Given the description of an element on the screen output the (x, y) to click on. 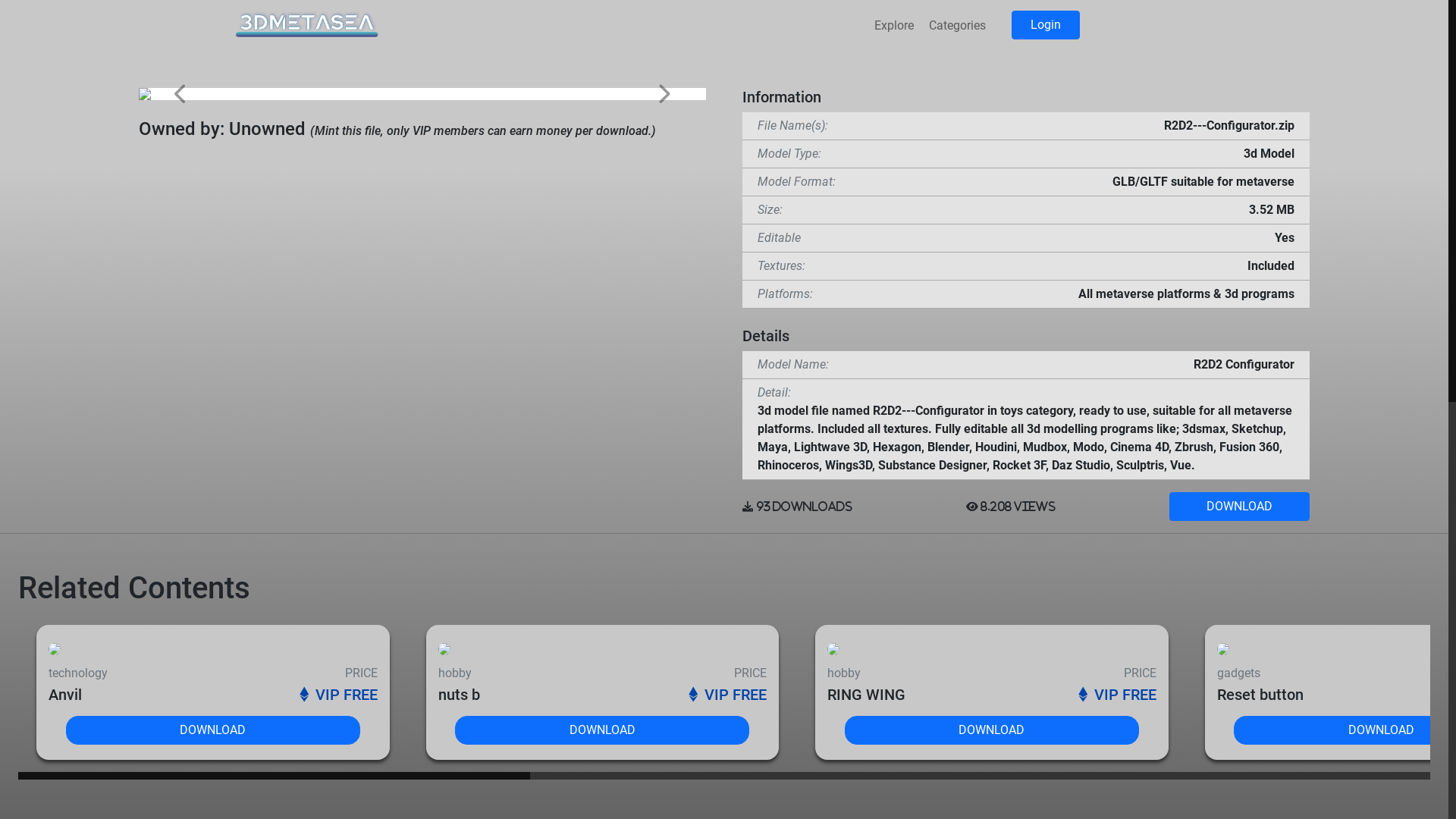
Login Element type: text (1045, 24)
Next Element type: text (663, 102)
DOWNLOAD Element type: text (263, 729)
DOWNLOAD Element type: text (1042, 729)
Explore Element type: text (893, 25)
DOWNLOAD Element type: text (1239, 505)
Previous Element type: text (180, 102)
DOWNLOAD Element type: text (653, 729)
Categories Element type: text (956, 25)
